Given the description of an element on the screen output the (x, y) to click on. 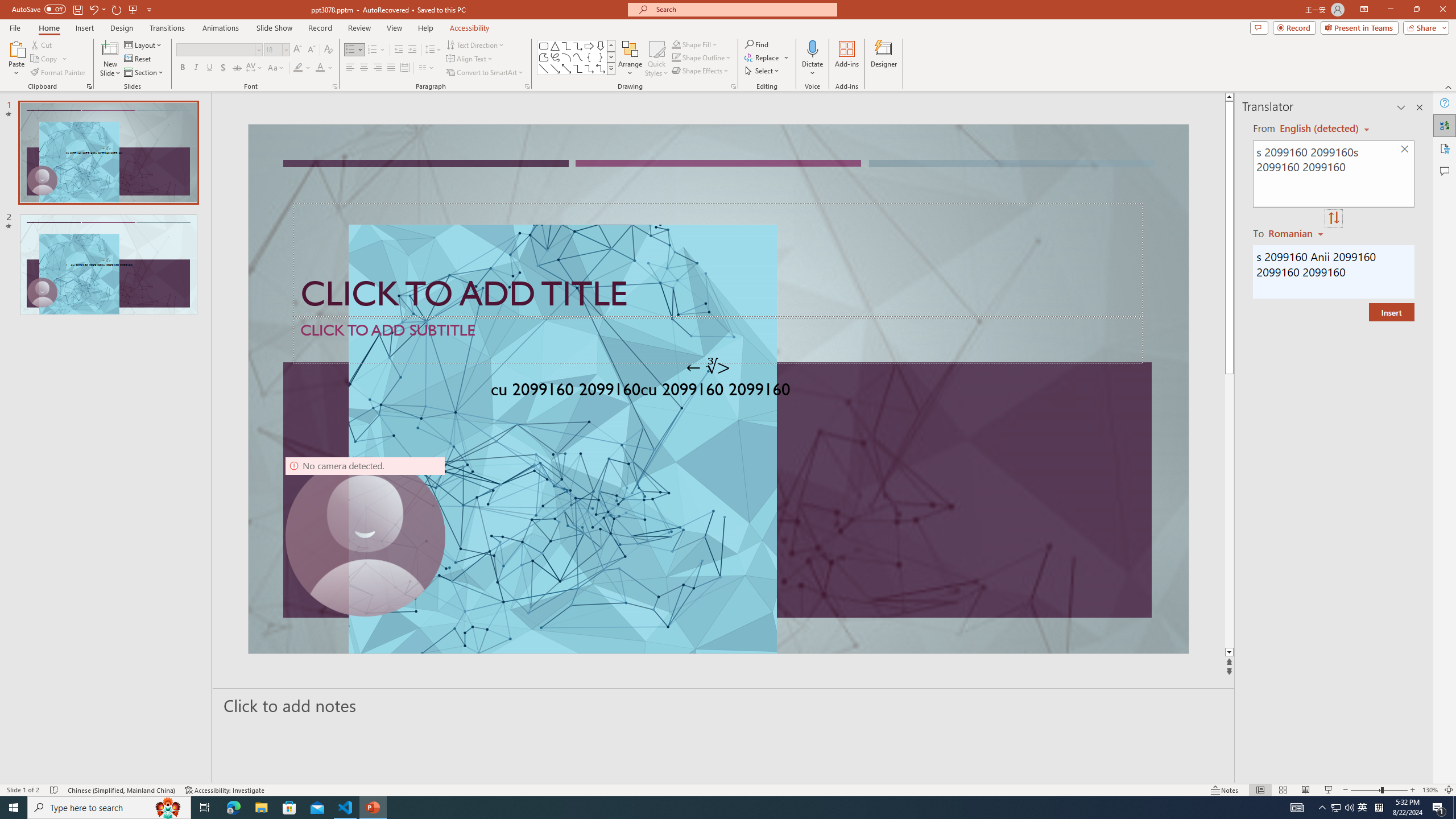
An abstract genetic concept (718, 388)
